Given the description of an element on the screen output the (x, y) to click on. 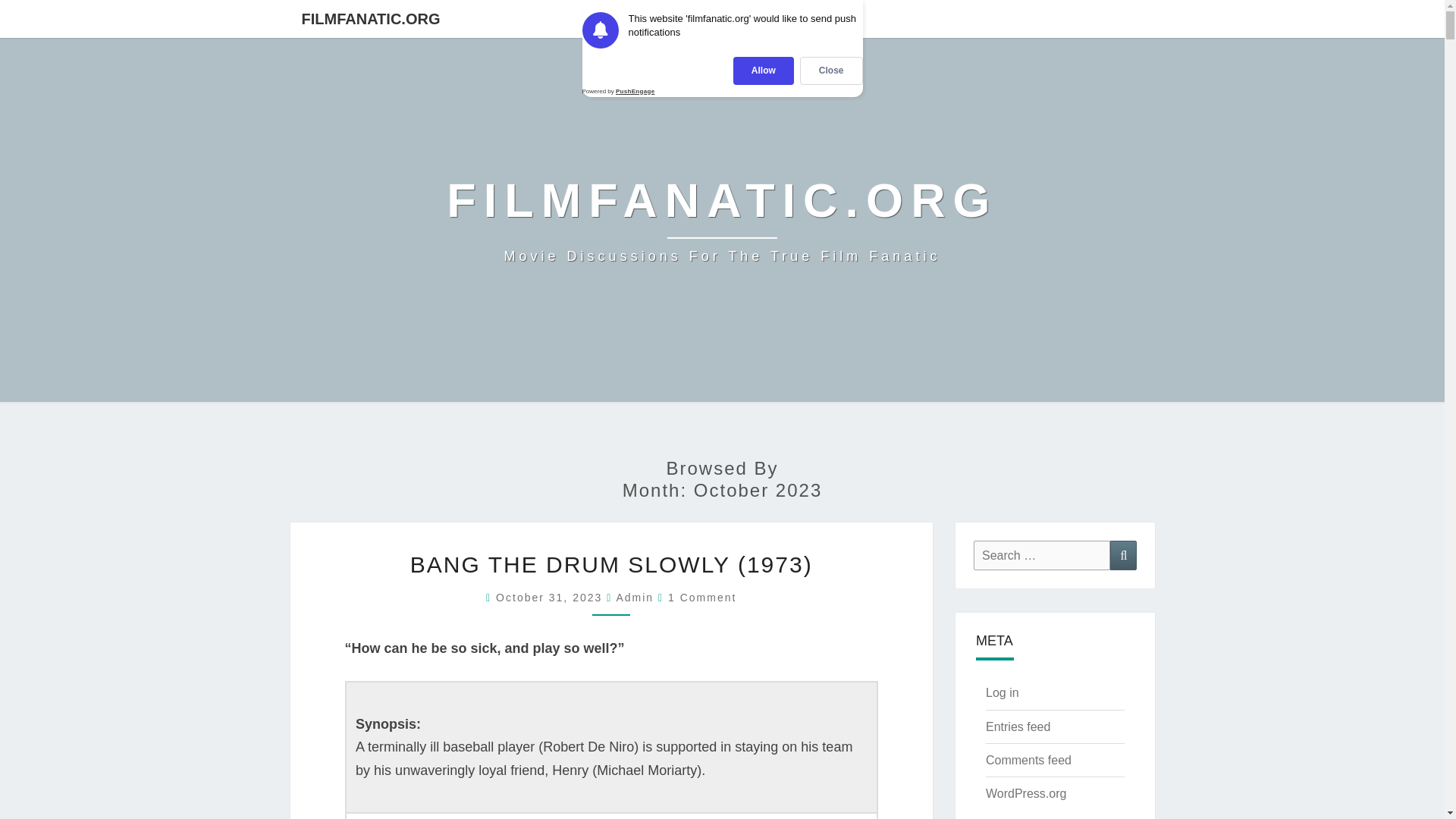
FILMFANATIC.ORG (370, 18)
1 Comment (721, 219)
Admin (702, 597)
October 31, 2023 (634, 597)
FilmFanatic.org (551, 597)
View all posts by admin (721, 219)
4:58 pm (634, 597)
